Given the description of an element on the screen output the (x, y) to click on. 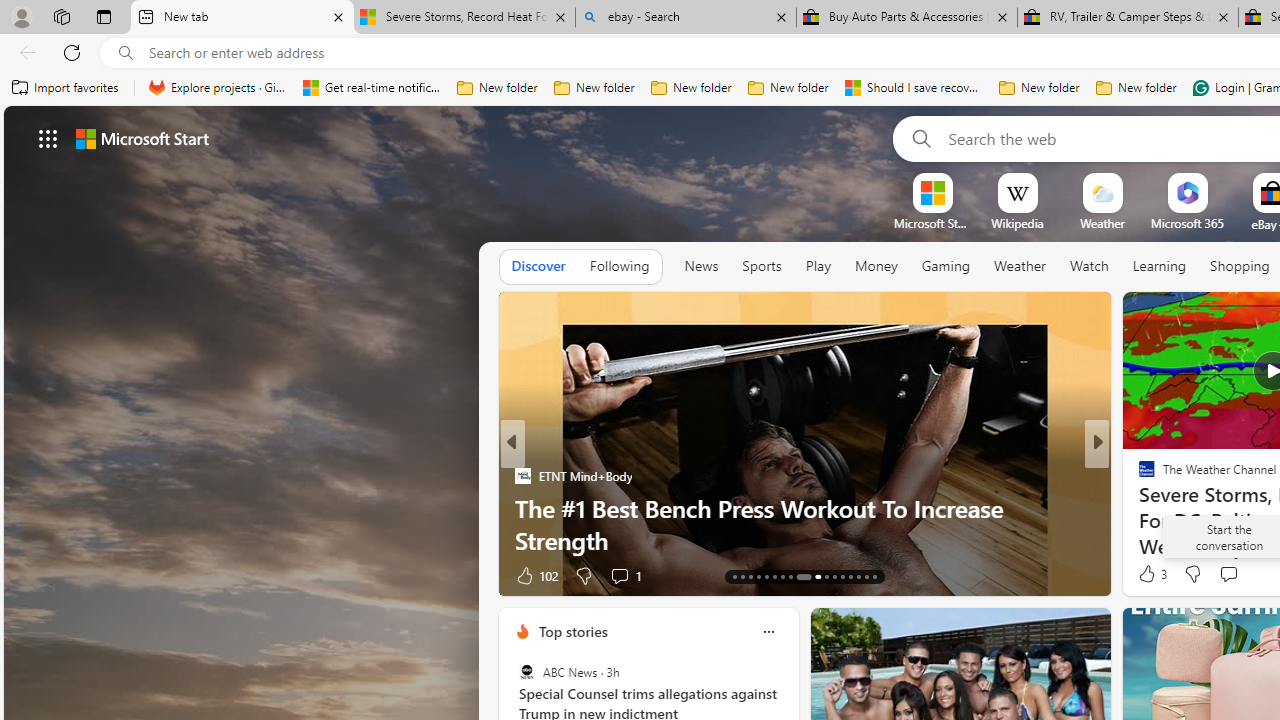
New folder (1136, 88)
32 Like (1149, 574)
AutomationID: tab-23 (825, 576)
View comments 8 Comment (1229, 575)
View comments 1 Comment (1241, 574)
ETNT Mind+Body (522, 475)
102 Like (535, 574)
Verywell Mind (1138, 507)
View comments 96 Comment (11, 575)
